Given the description of an element on the screen output the (x, y) to click on. 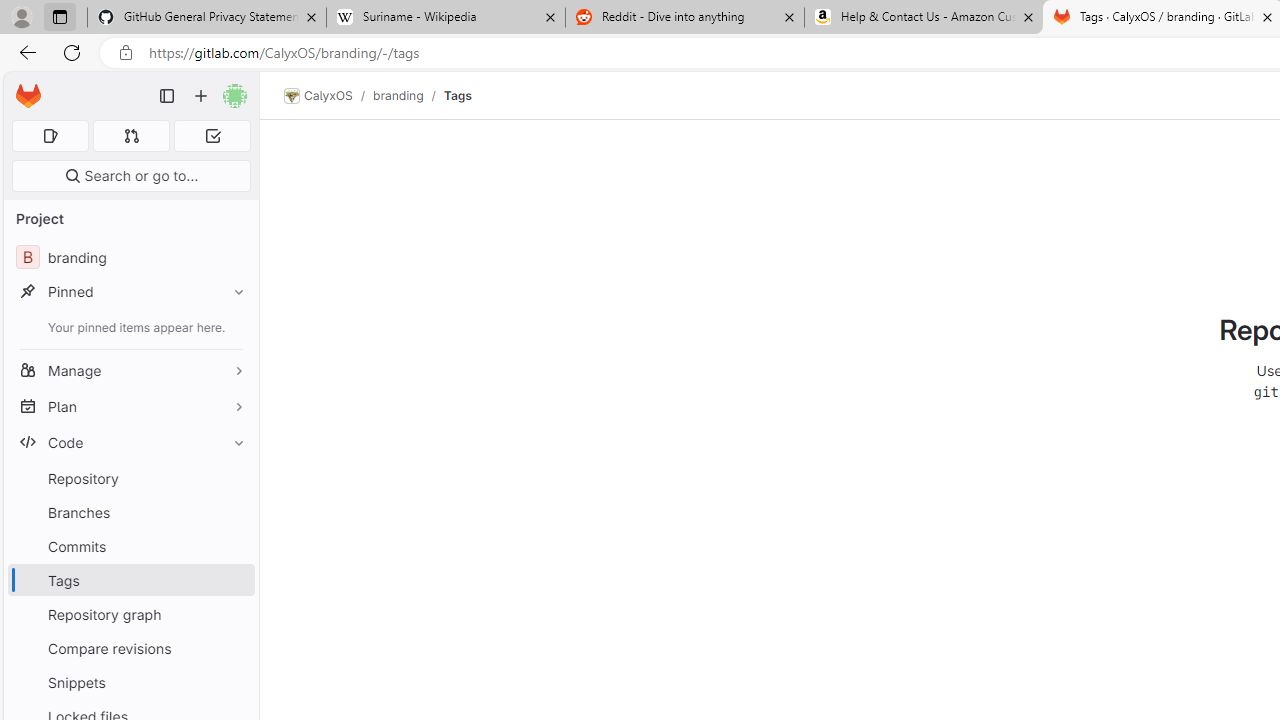
To-Do list 0 (212, 136)
Branches (130, 512)
Compare revisions (130, 648)
Repository graph (130, 614)
Reddit - Dive into anything (684, 17)
Pinned (130, 291)
Help & Contact Us - Amazon Customer Service (924, 17)
Skip to main content (23, 87)
Snippets (130, 682)
Pin Commits (234, 546)
Create new... (201, 96)
branding (397, 95)
Commits (130, 546)
Plan (130, 406)
Manage (130, 370)
